Given the description of an element on the screen output the (x, y) to click on. 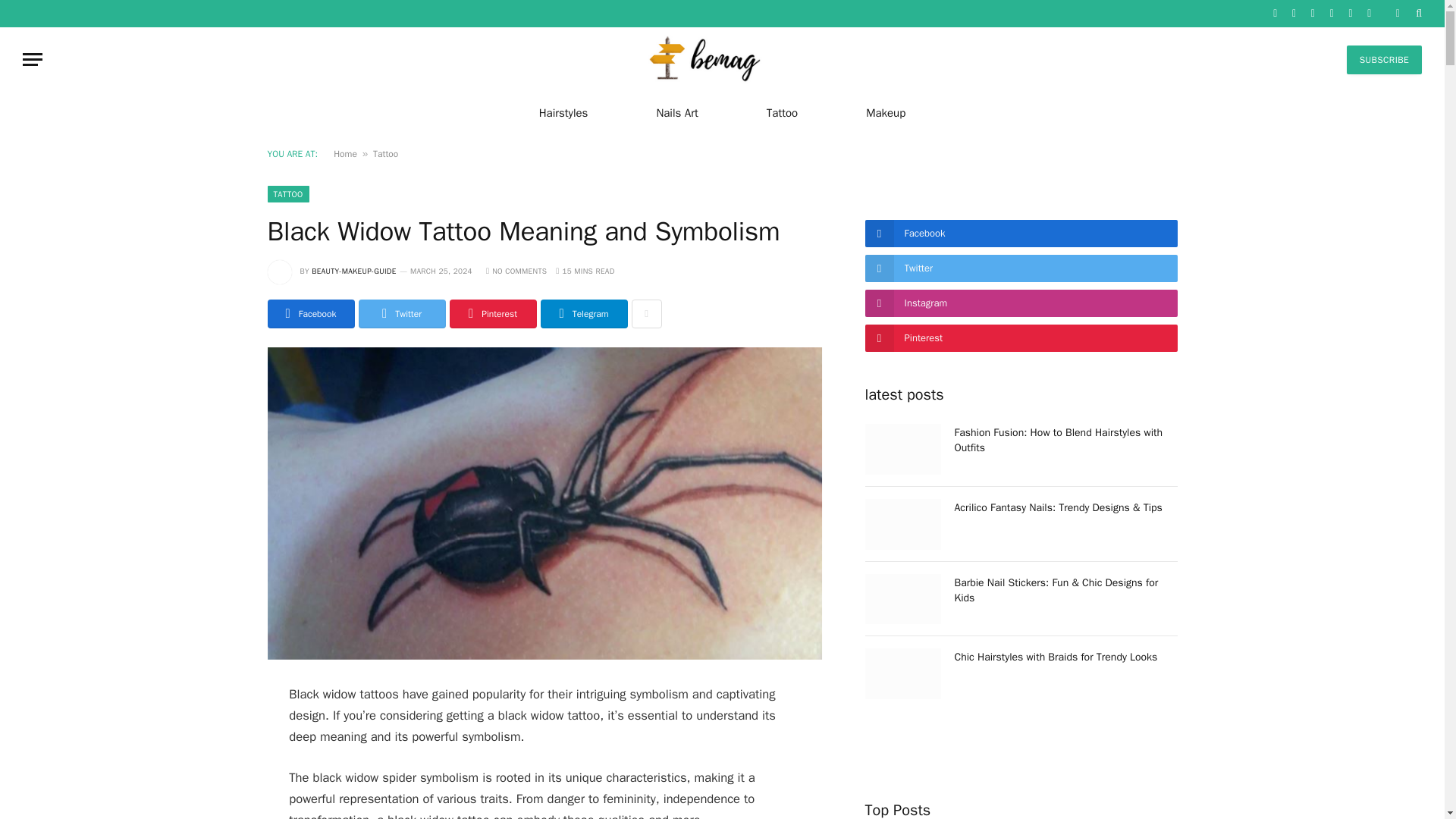
TATTOO (287, 193)
bemag (722, 59)
Share on Pinterest (491, 313)
Facebook (309, 313)
Tattoo (781, 112)
Nails Art (676, 112)
Twitter (401, 313)
NO COMMENTS (516, 271)
Posts by beauty-makeup-guide (353, 271)
Share on Telegram (583, 313)
